Given the description of an element on the screen output the (x, y) to click on. 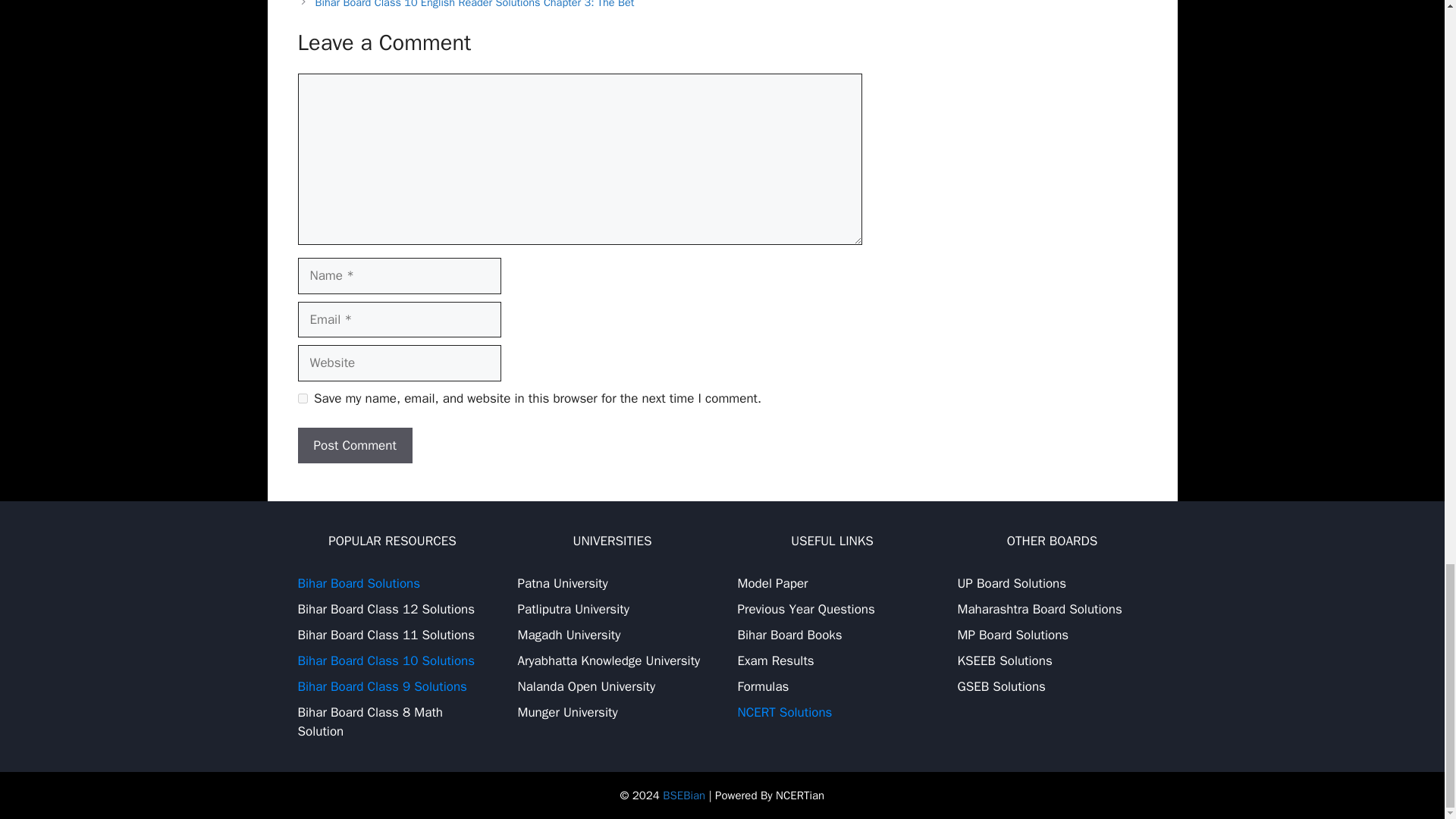
BSEBian (683, 795)
yes (302, 398)
Bihar Board Class 9 Solutions (381, 686)
NCERT Solutions (783, 712)
Post Comment (354, 445)
Bihar Board Solutions (358, 583)
Bihar Board Class 10 Solutions (385, 660)
Post Comment (354, 445)
